Given the description of an element on the screen output the (x, y) to click on. 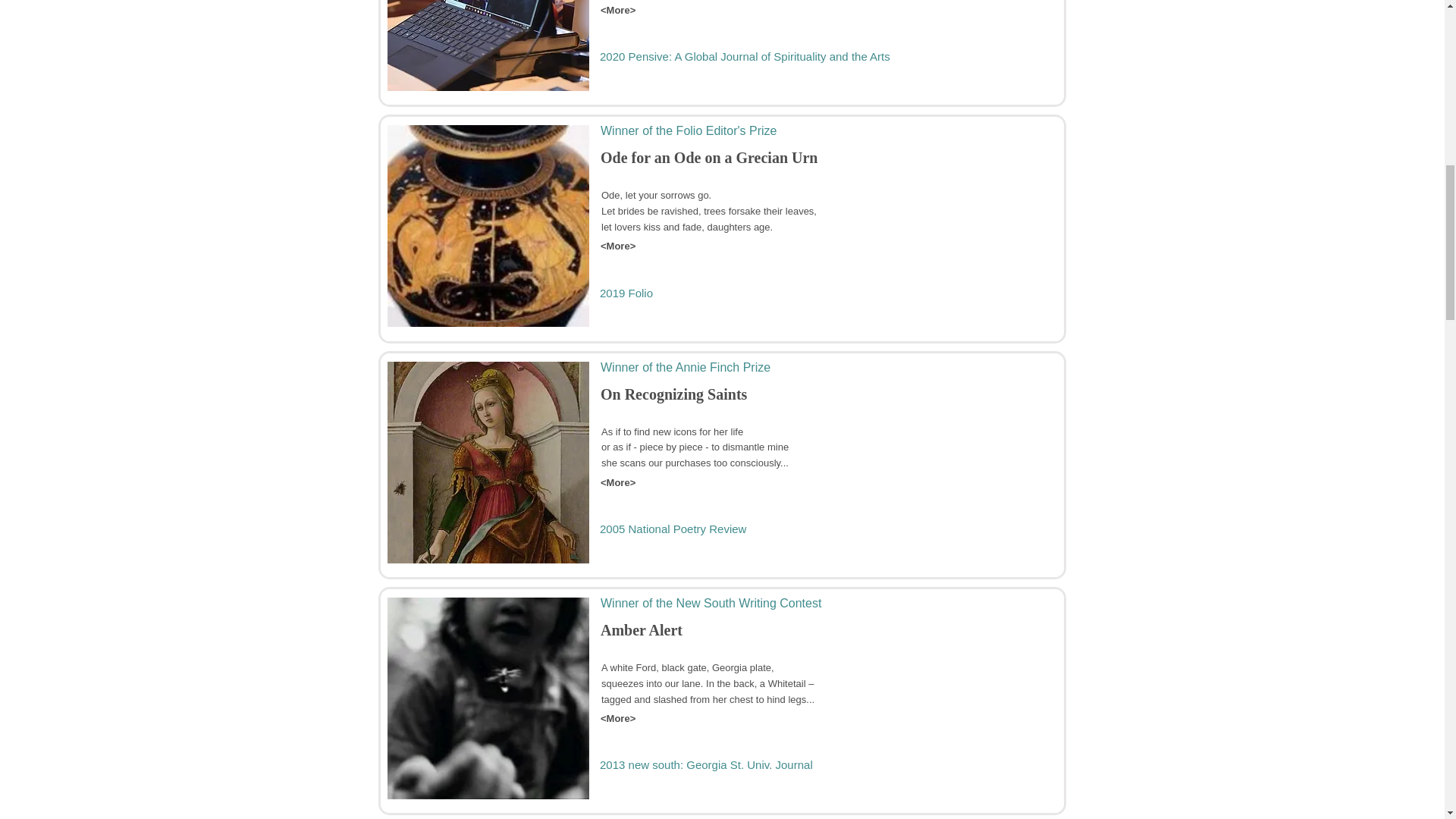
odegrecian.jpg (488, 225)
afterlives.jpg (488, 45)
Catherine.JPG (488, 462)
